Given the description of an element on the screen output the (x, y) to click on. 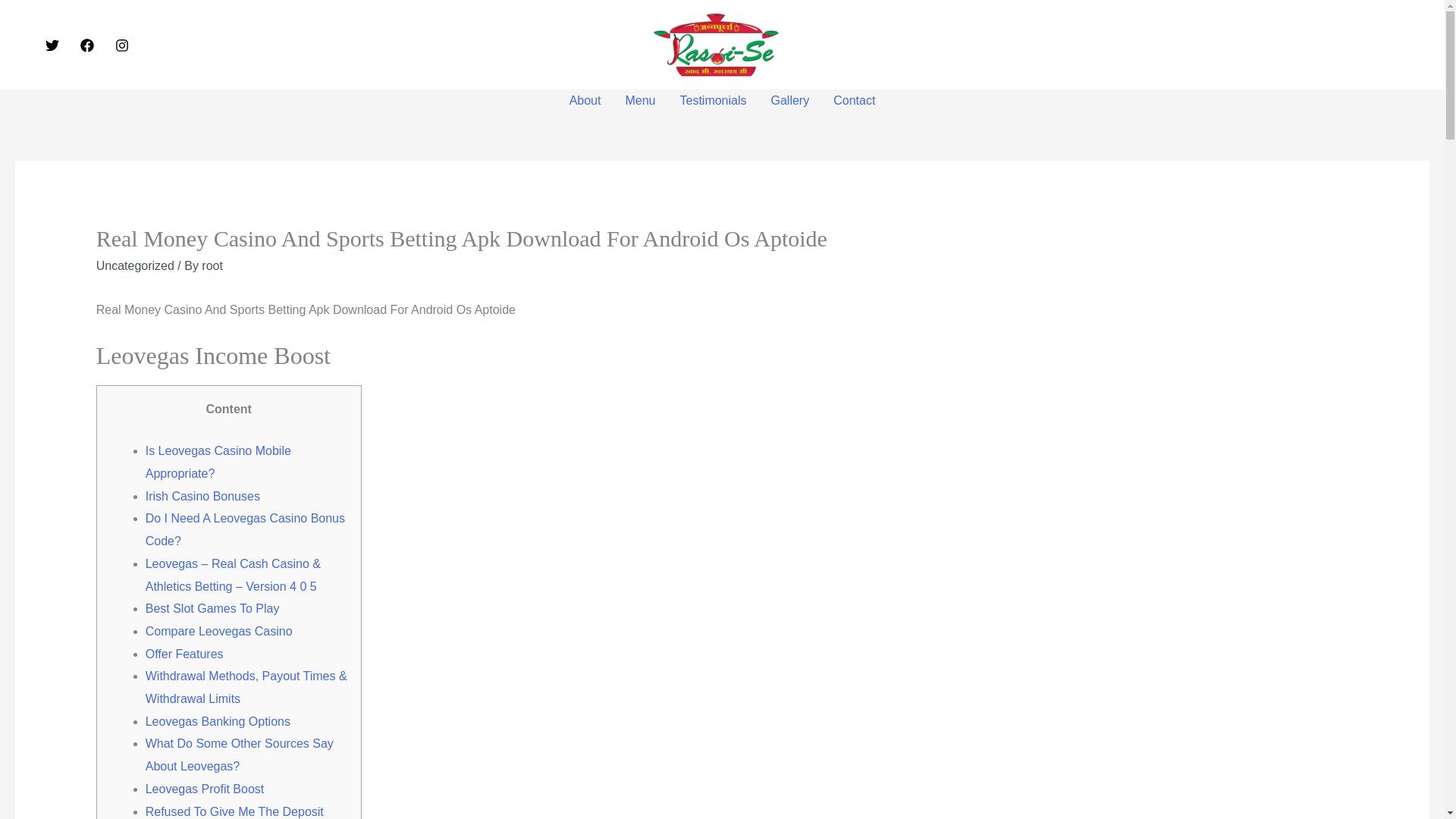
Leovegas Banking Options (217, 721)
Offer Features (184, 653)
Contact (853, 100)
Best Slot Games To Play (212, 608)
View all posts by root (212, 265)
Compare Leovegas Casino (218, 631)
About (584, 100)
Uncategorized (135, 265)
root (212, 265)
Menu (639, 100)
